Given the description of an element on the screen output the (x, y) to click on. 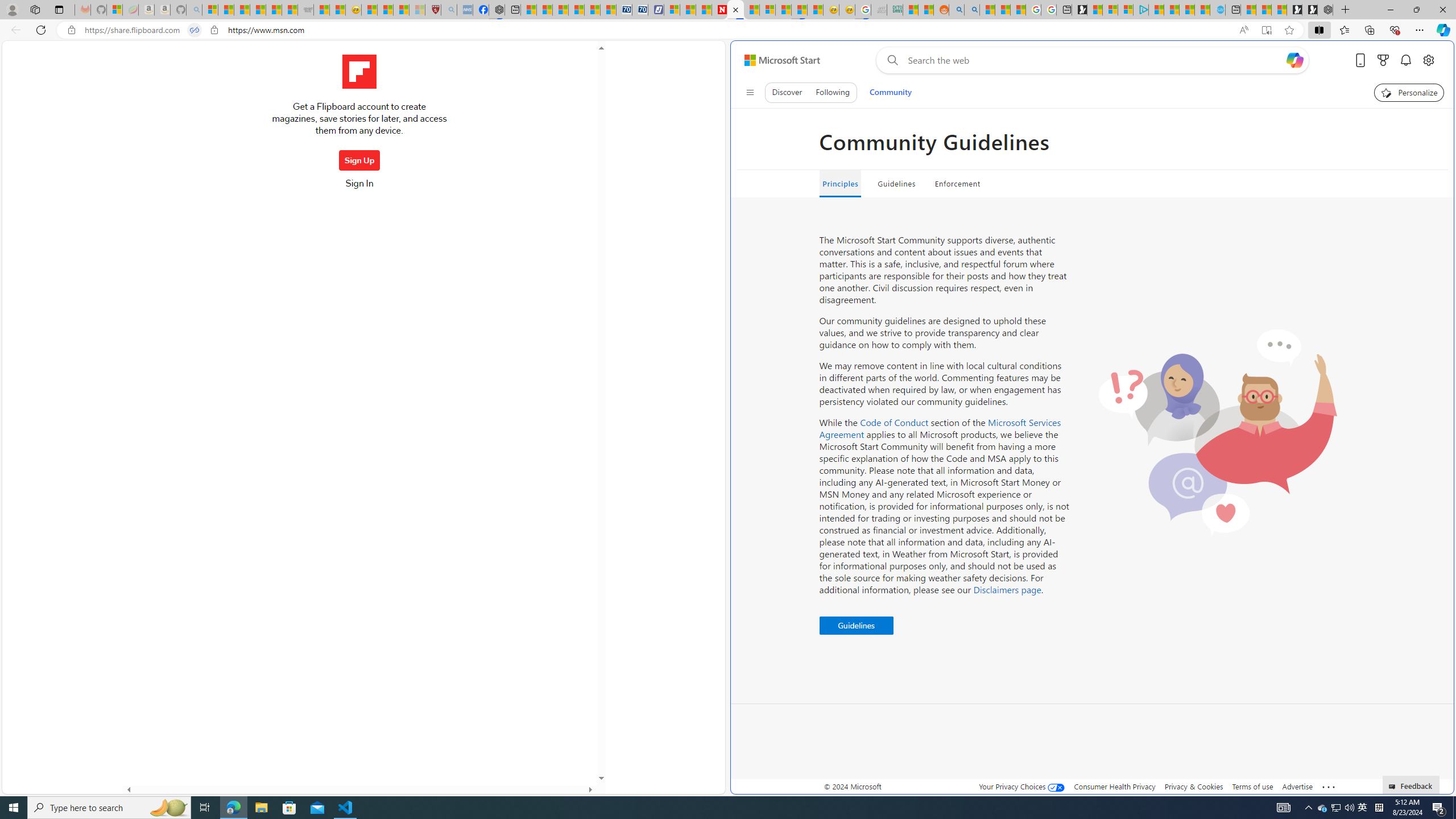
Community (889, 92)
Web search (890, 60)
Navy Quest (878, 9)
DITOGAMES AG Imprint (894, 9)
Recipes - MSN (368, 9)
Enforcement (956, 183)
